Given the description of an element on the screen output the (x, y) to click on. 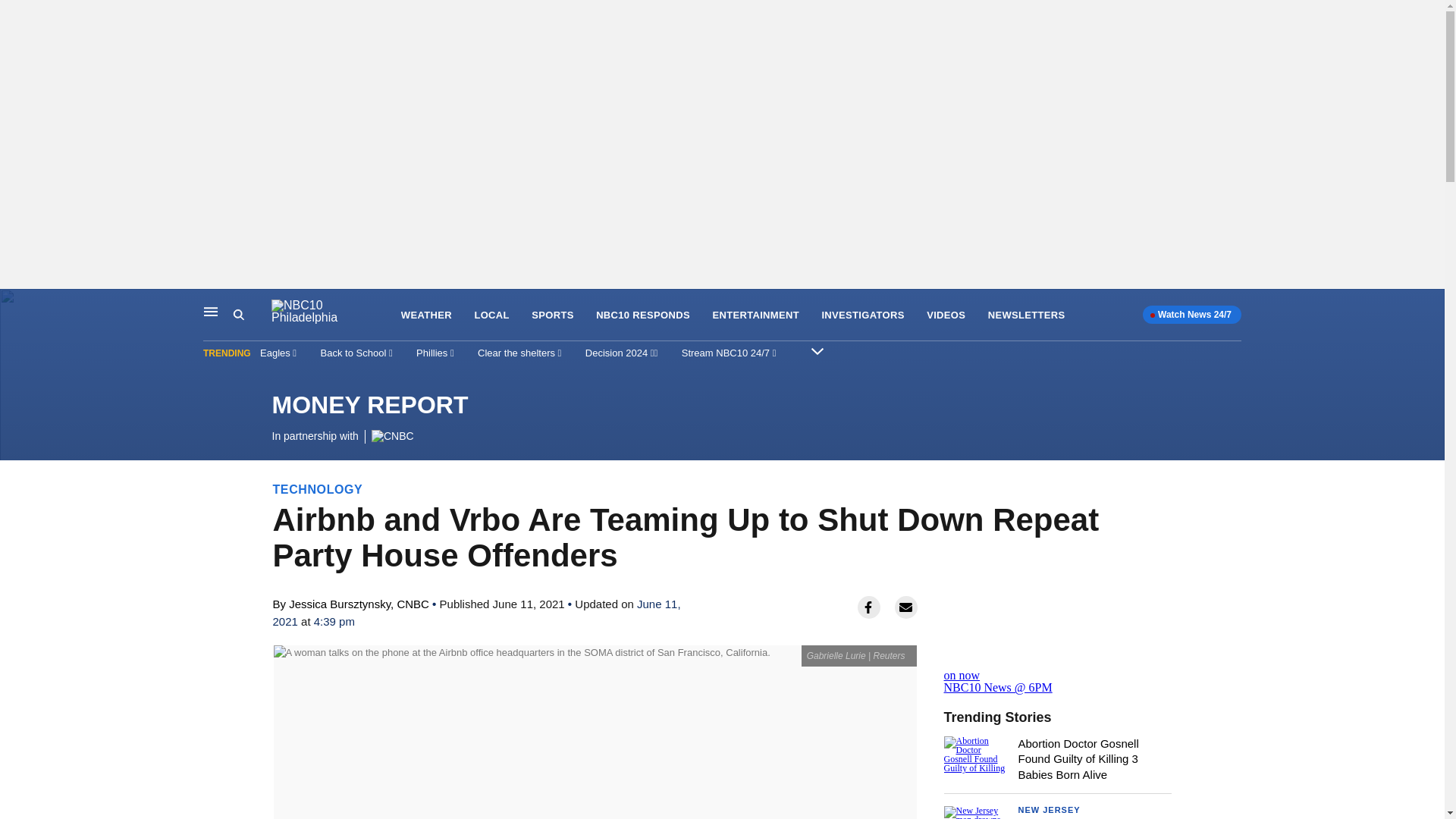
SPORTS (552, 315)
Search (238, 314)
INVESTIGATORS (862, 315)
Skip to content (16, 304)
NEWSLETTERS (1026, 315)
NBC10 RESPONDS (642, 315)
ENTERTAINMENT (755, 315)
Main Navigation (210, 311)
LOCAL (491, 315)
Search (252, 314)
